Given the description of an element on the screen output the (x, y) to click on. 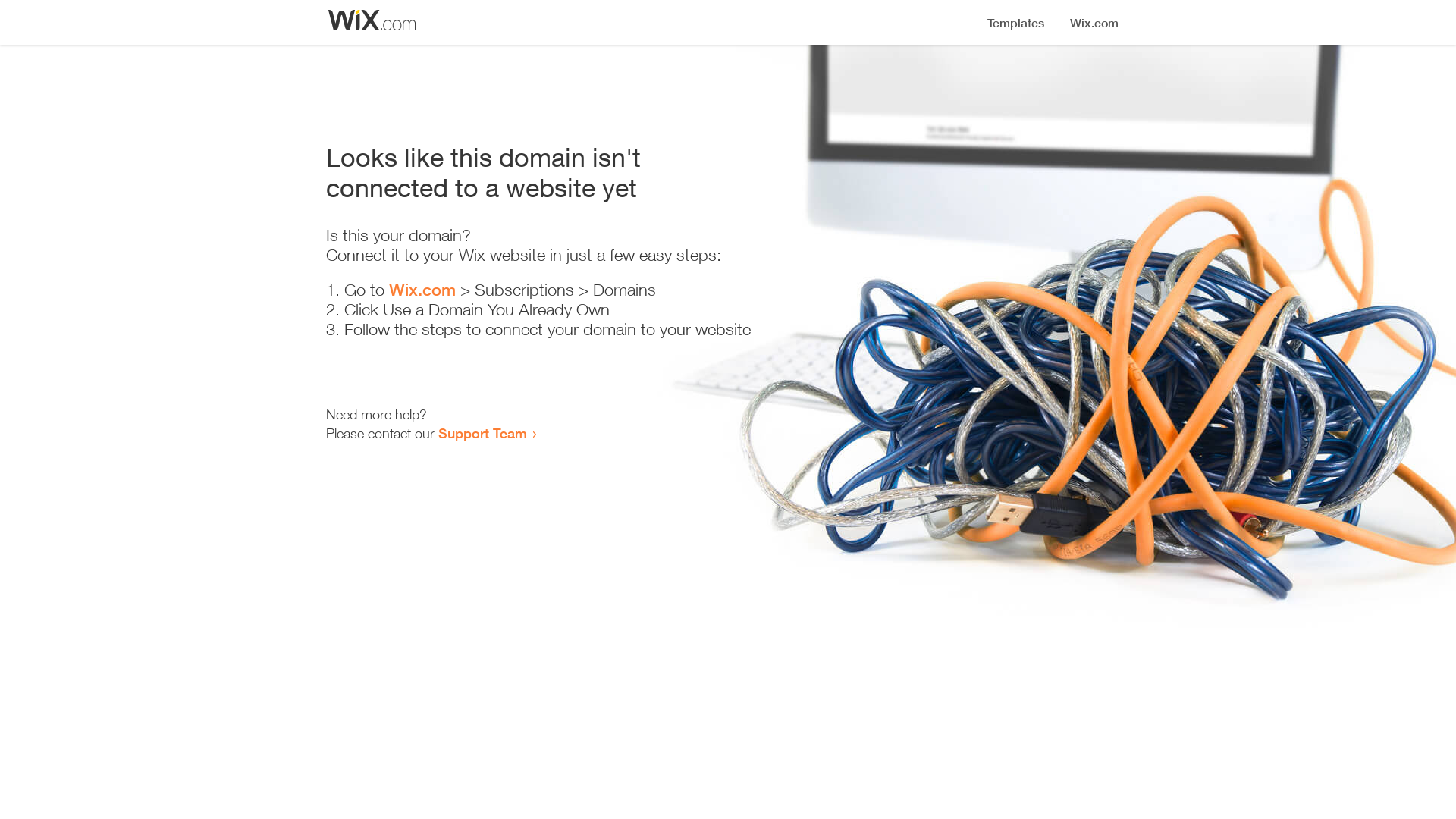
Wix.com Element type: text (422, 289)
Support Team Element type: text (482, 432)
